Given the description of an element on the screen output the (x, y) to click on. 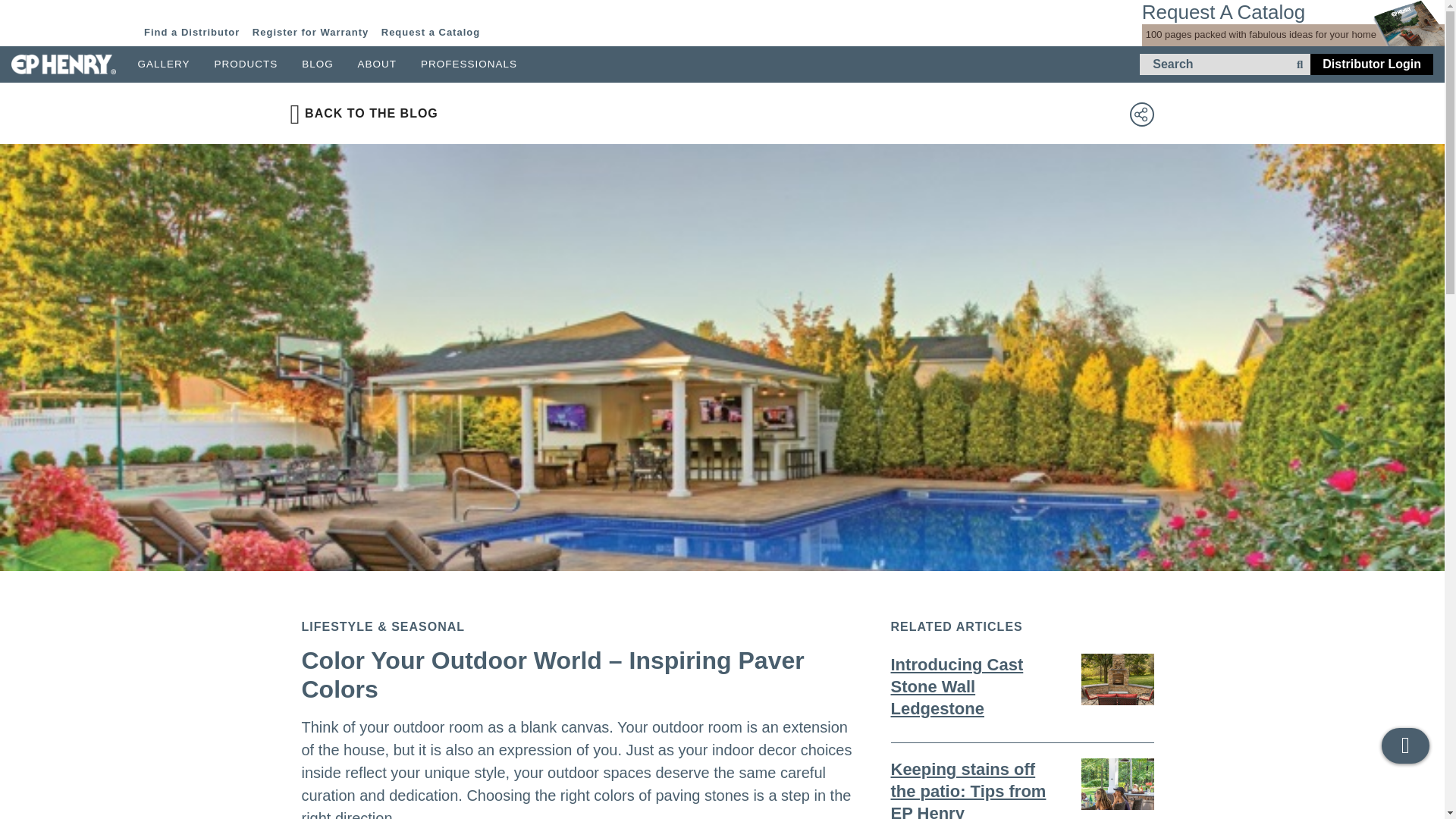
ABOUT (377, 63)
Find a Distributor (192, 31)
BLOG (317, 63)
PRODUCTS (246, 63)
Register for Warranty (309, 31)
BACK TO THE BLOG (363, 113)
Distributor Login (1371, 64)
GALLERY (164, 63)
PROFESSIONALS (468, 63)
Request a Catalog (430, 31)
Return to Top (1405, 745)
